Given the description of an element on the screen output the (x, y) to click on. 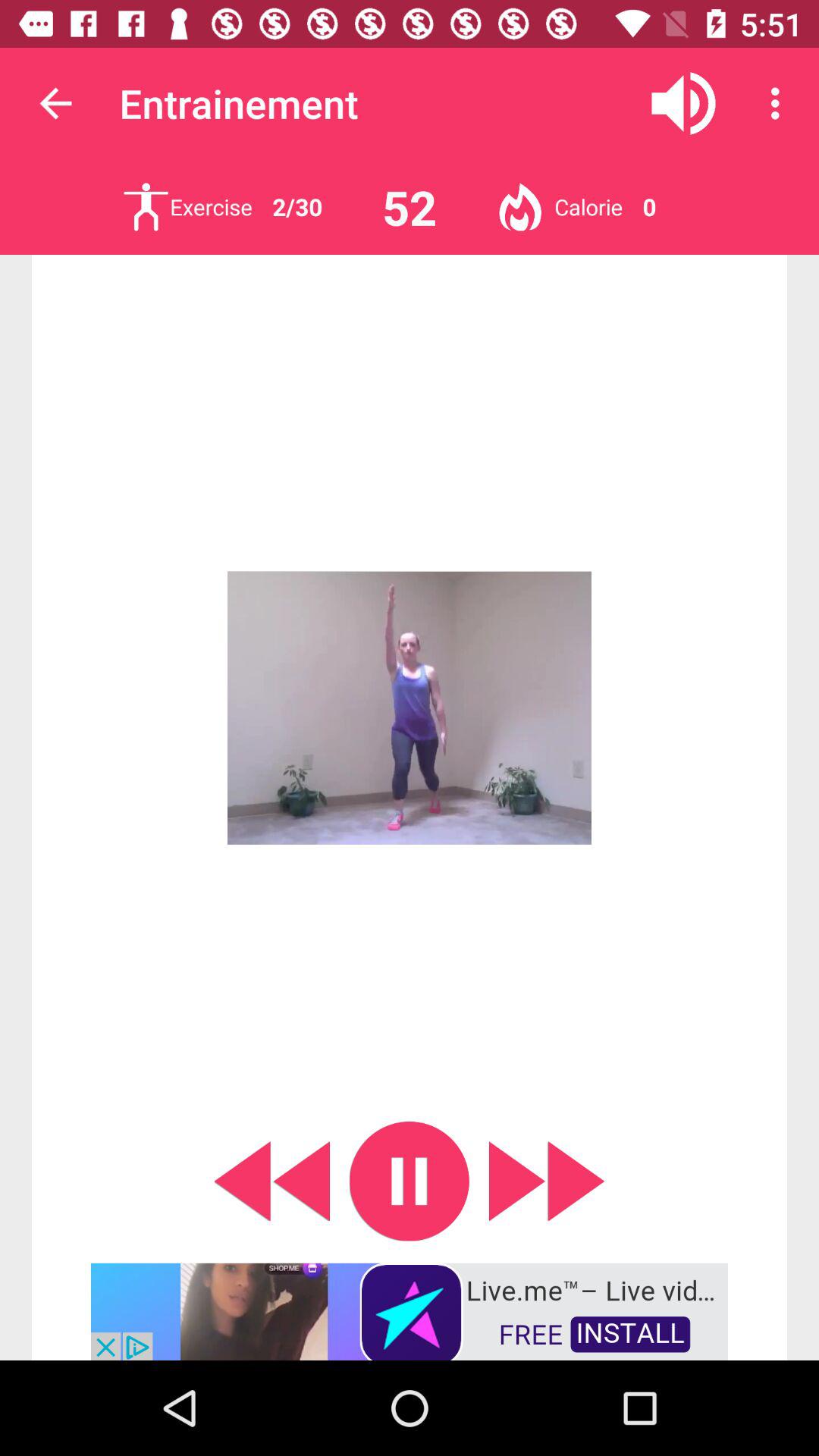
calorie calculate app (520, 206)
